Given the description of an element on the screen output the (x, y) to click on. 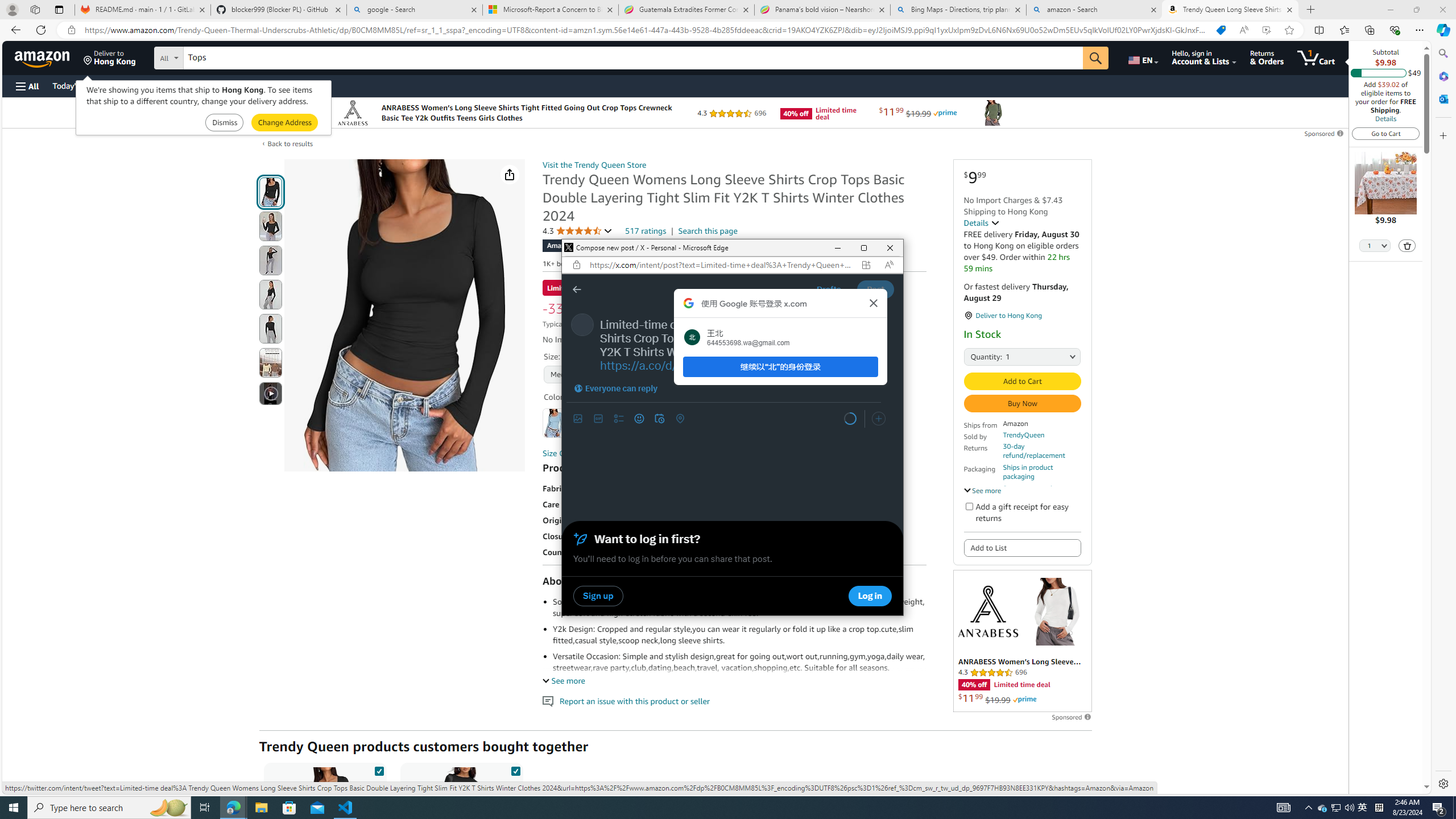
Skip to main content (48, 56)
Add a gift receipt for easy returns (968, 506)
Maximize (863, 248)
Post text (741, 344)
App available. Install X (865, 264)
Task View (204, 807)
Customer Service (145, 85)
Gift Cards (251, 85)
Deliver to Hong Kong (109, 57)
